Given the description of an element on the screen output the (x, y) to click on. 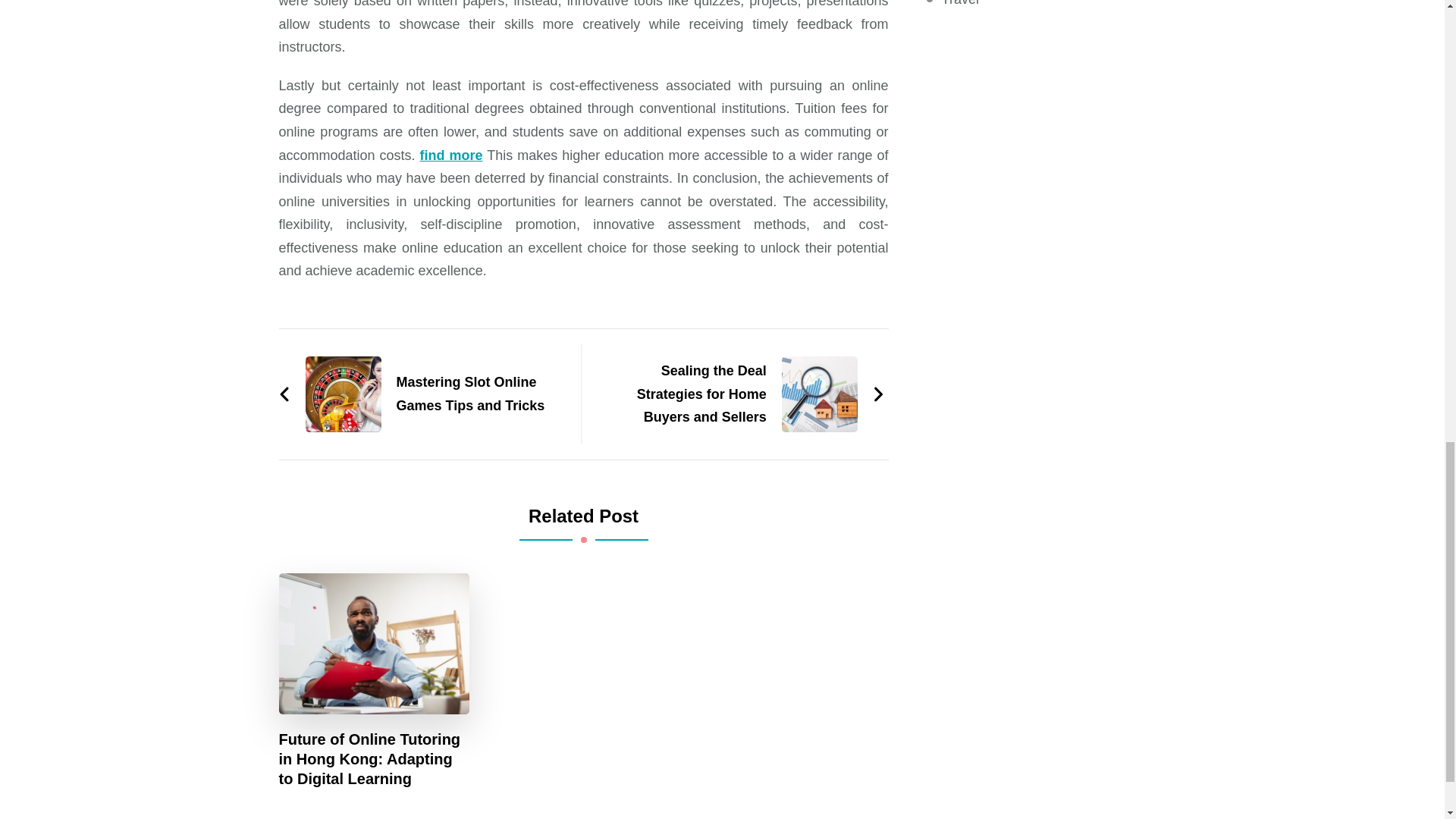
find more (451, 155)
Sealing the Deal Strategies for Home Buyers and Sellers (740, 394)
Mastering Slot Online Games Tips and Tricks (421, 393)
